Given the description of an element on the screen output the (x, y) to click on. 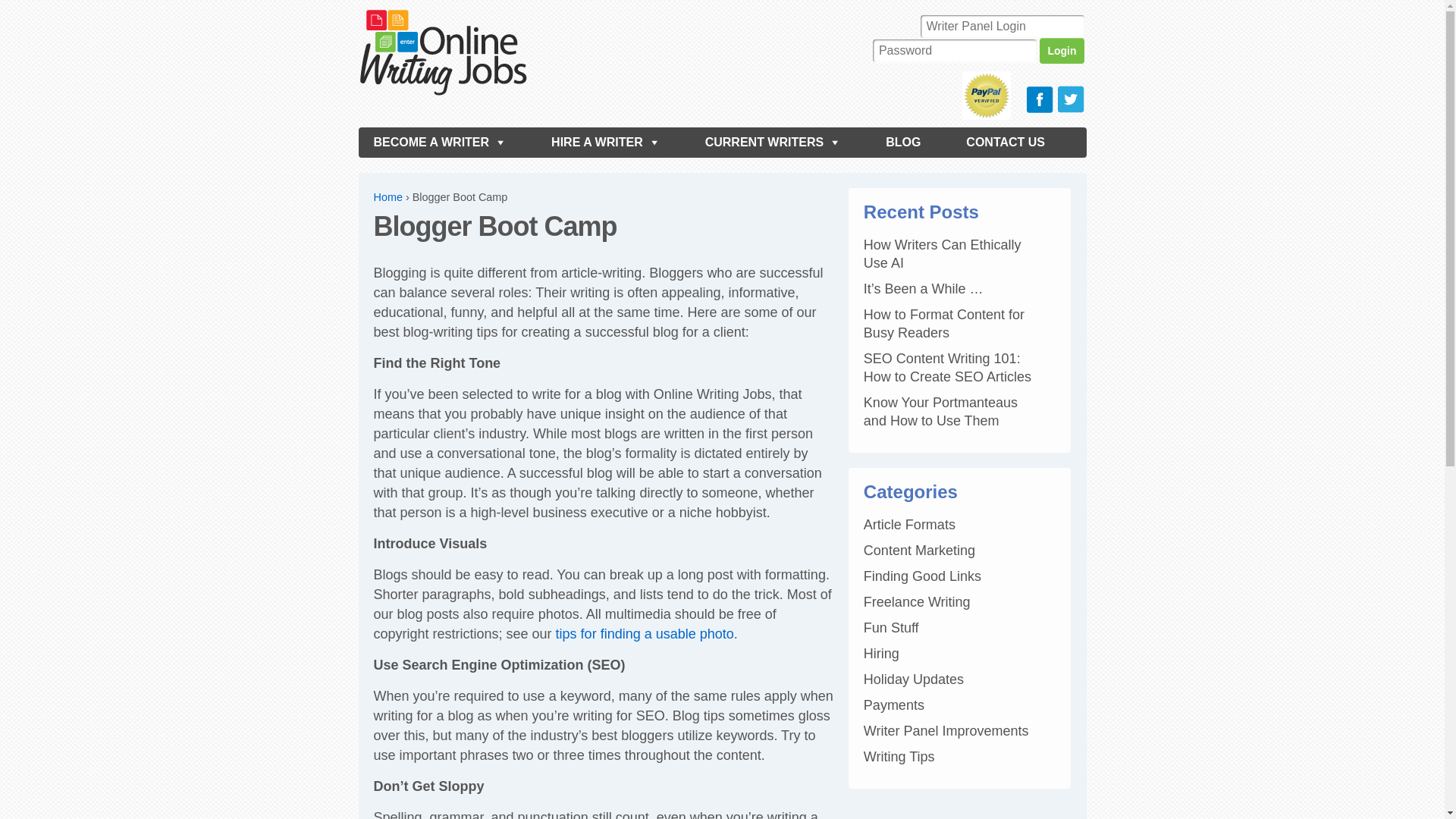
Finding Good Links (922, 575)
HIRE A WRITER (605, 142)
BLOG (903, 142)
How Writers Can Ethically Use AI (942, 254)
CONTACT US (1004, 142)
Fun Stuff (890, 627)
How to Format Content for Busy Readers (944, 323)
SEO Content Writing 101: How to Create SEO Articles (946, 367)
Home (386, 196)
Freelance Writing (917, 601)
Know Your Portmanteaus and How to Use Them (940, 411)
Login (1061, 50)
Article Formats (909, 524)
Content Marketing (919, 549)
tips for finding a usable photo (644, 633)
